Given the description of an element on the screen output the (x, y) to click on. 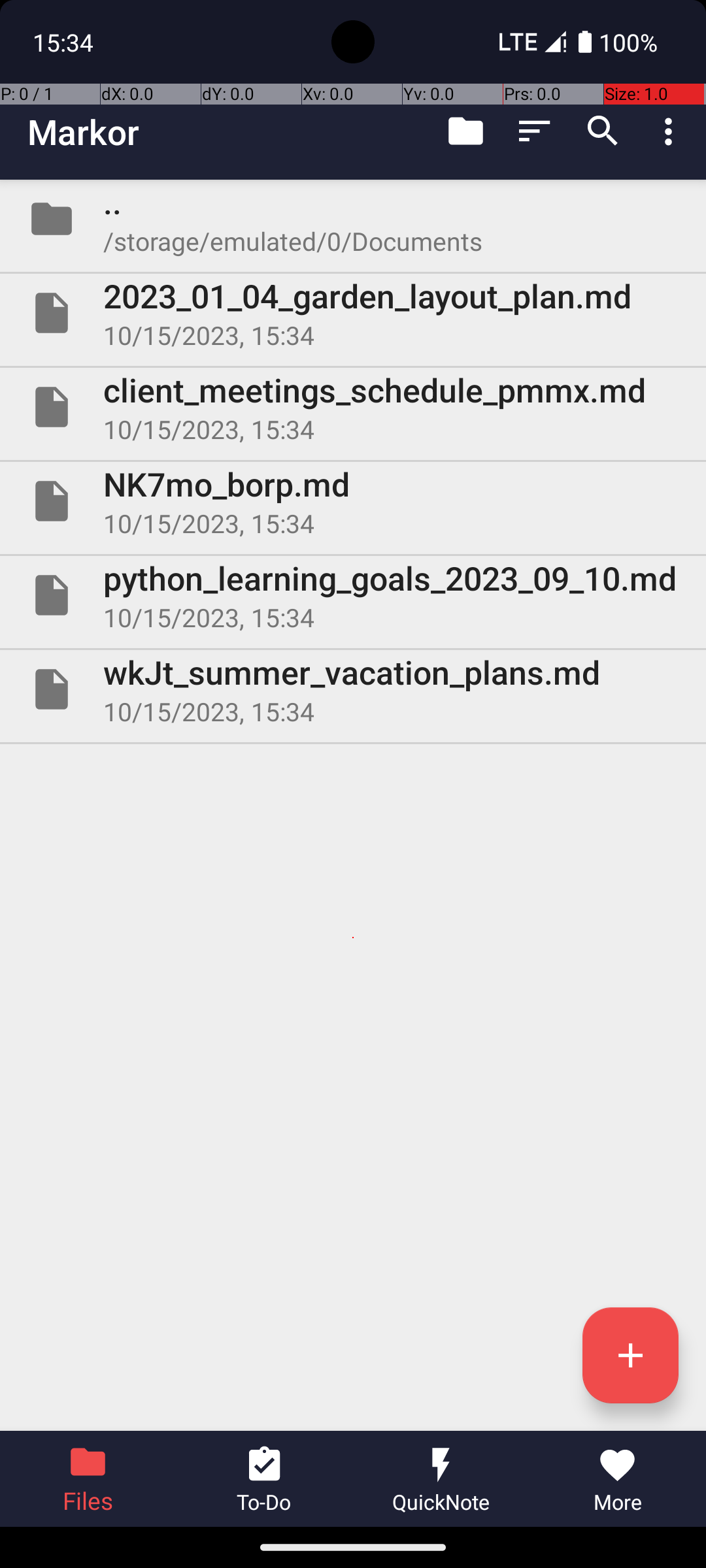
File 2023_01_04_garden_layout_plan.md  Element type: android.widget.LinearLayout (353, 312)
File client_meetings_schedule_pmmx.md  Element type: android.widget.LinearLayout (353, 406)
File NK7mo_borp.md  Element type: android.widget.LinearLayout (353, 500)
File python_learning_goals_2023_09_10.md  Element type: android.widget.LinearLayout (353, 594)
File wkJt_summer_vacation_plans.md  Element type: android.widget.LinearLayout (353, 689)
